Given the description of an element on the screen output the (x, y) to click on. 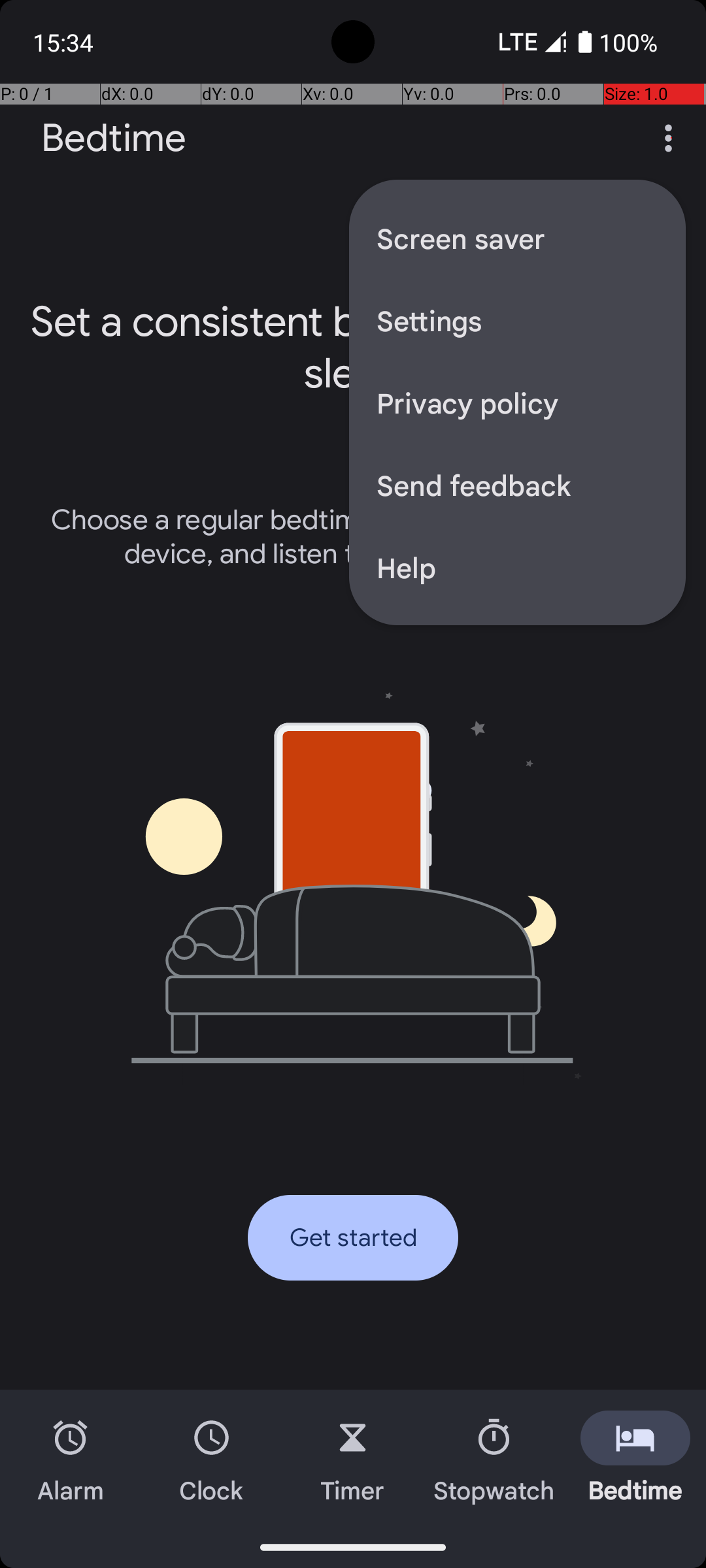
Screen saver Element type: android.widget.TextView (517, 237)
Send feedback Element type: android.widget.TextView (517, 484)
